Given the description of an element on the screen output the (x, y) to click on. 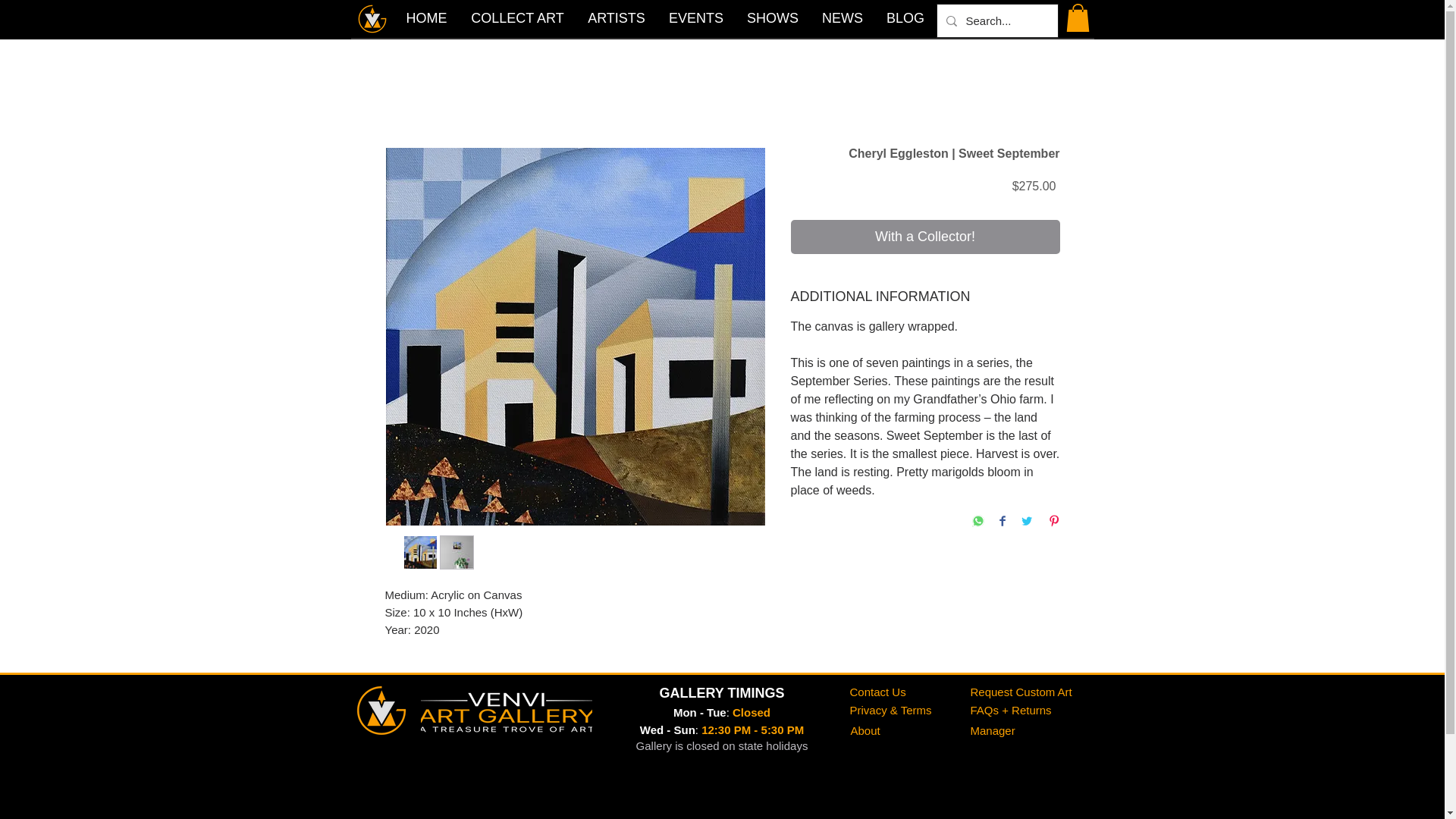
Request Custom Art (1021, 691)
NEWS (842, 17)
EVENTS (695, 17)
HOME (427, 17)
Contact Us (876, 691)
COLLECT ART (518, 17)
Manager (992, 730)
SHOWS (772, 17)
ARTISTS (617, 17)
Venvi Art Gallery Logo Text in White.png (505, 710)
